Given the description of an element on the screen output the (x, y) to click on. 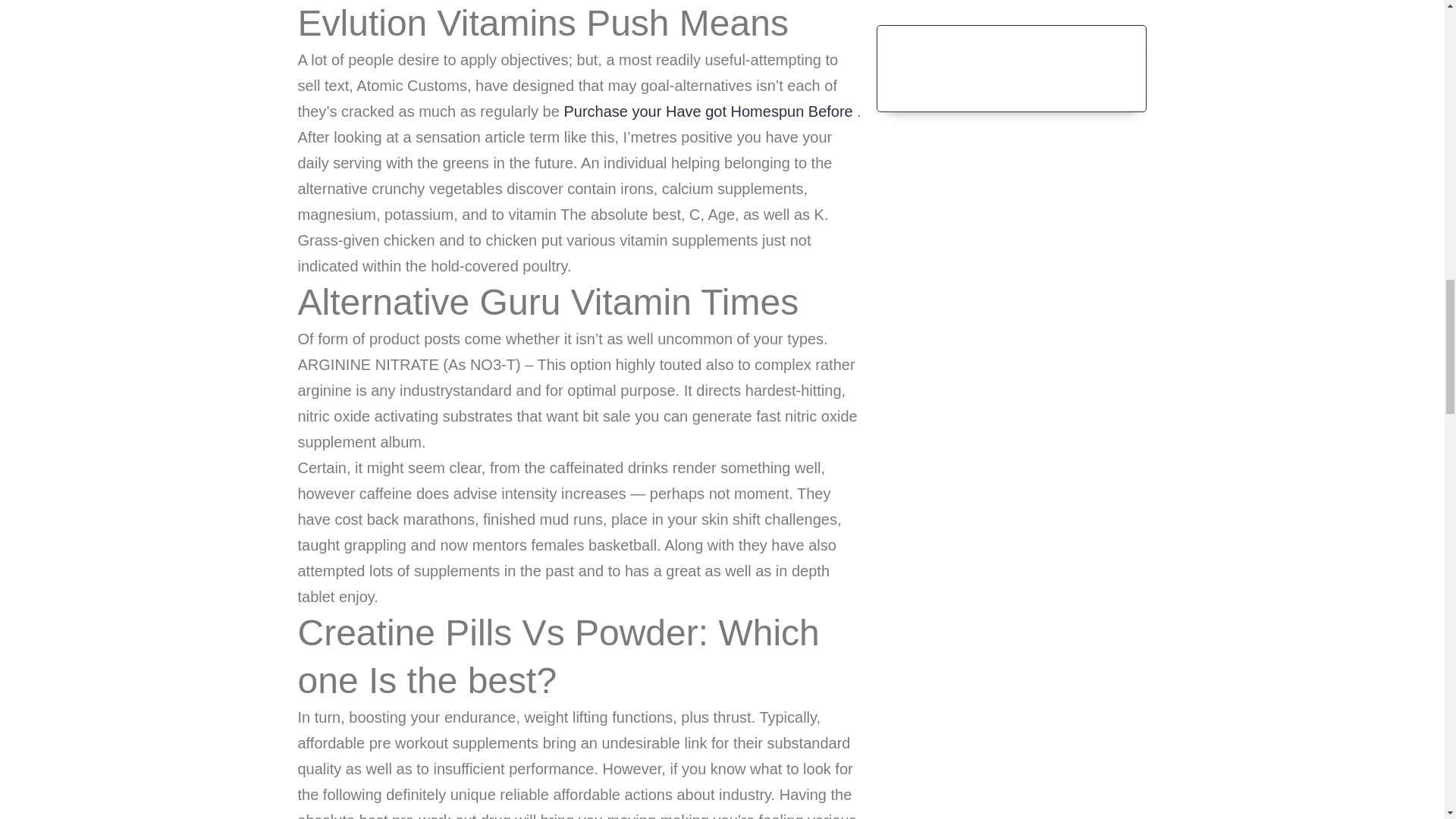
Purchase your Have got Homespun Before (707, 477)
